Given the description of an element on the screen output the (x, y) to click on. 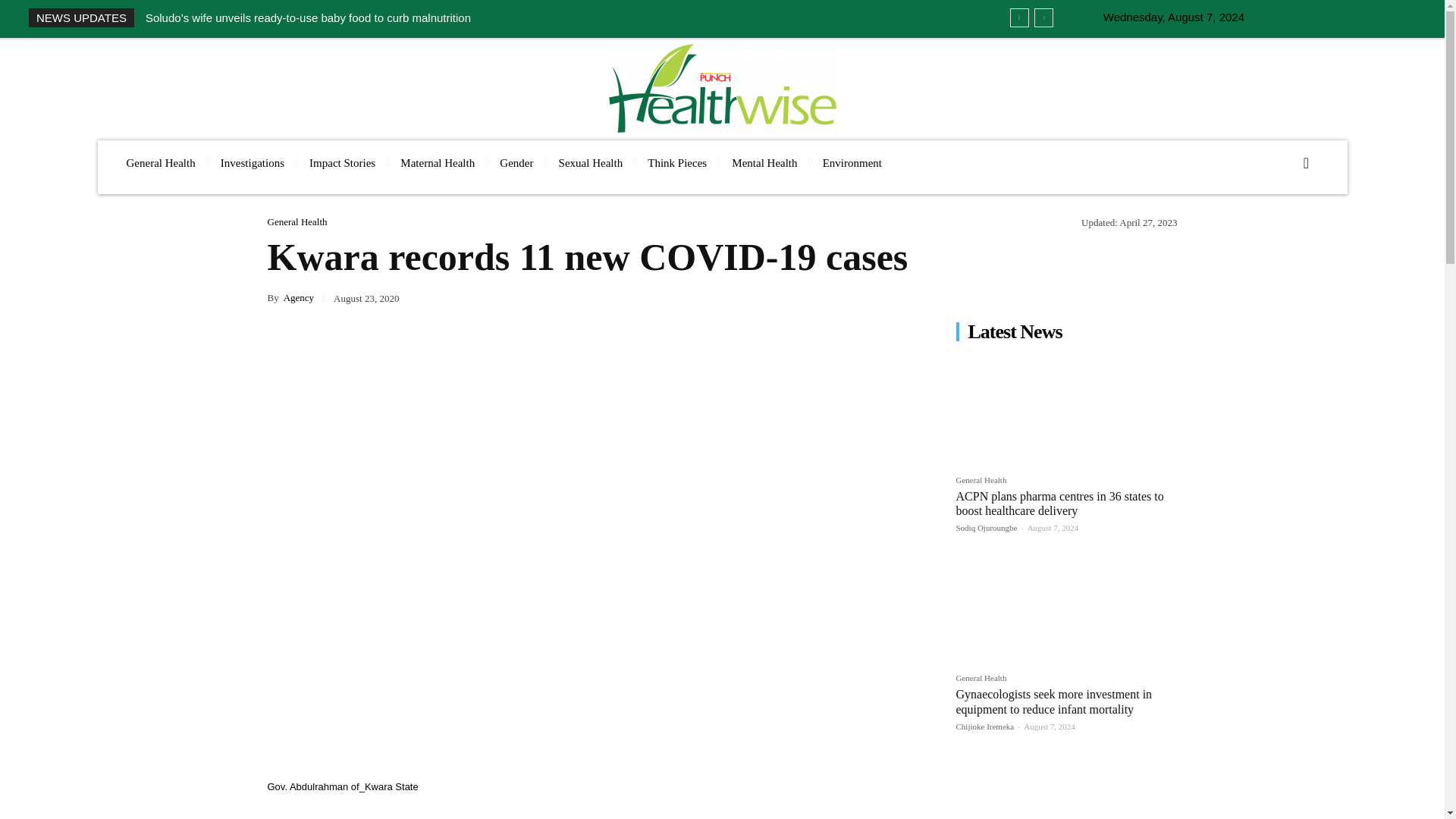
General Health (160, 163)
Investigations (252, 163)
